Given the description of an element on the screen output the (x, y) to click on. 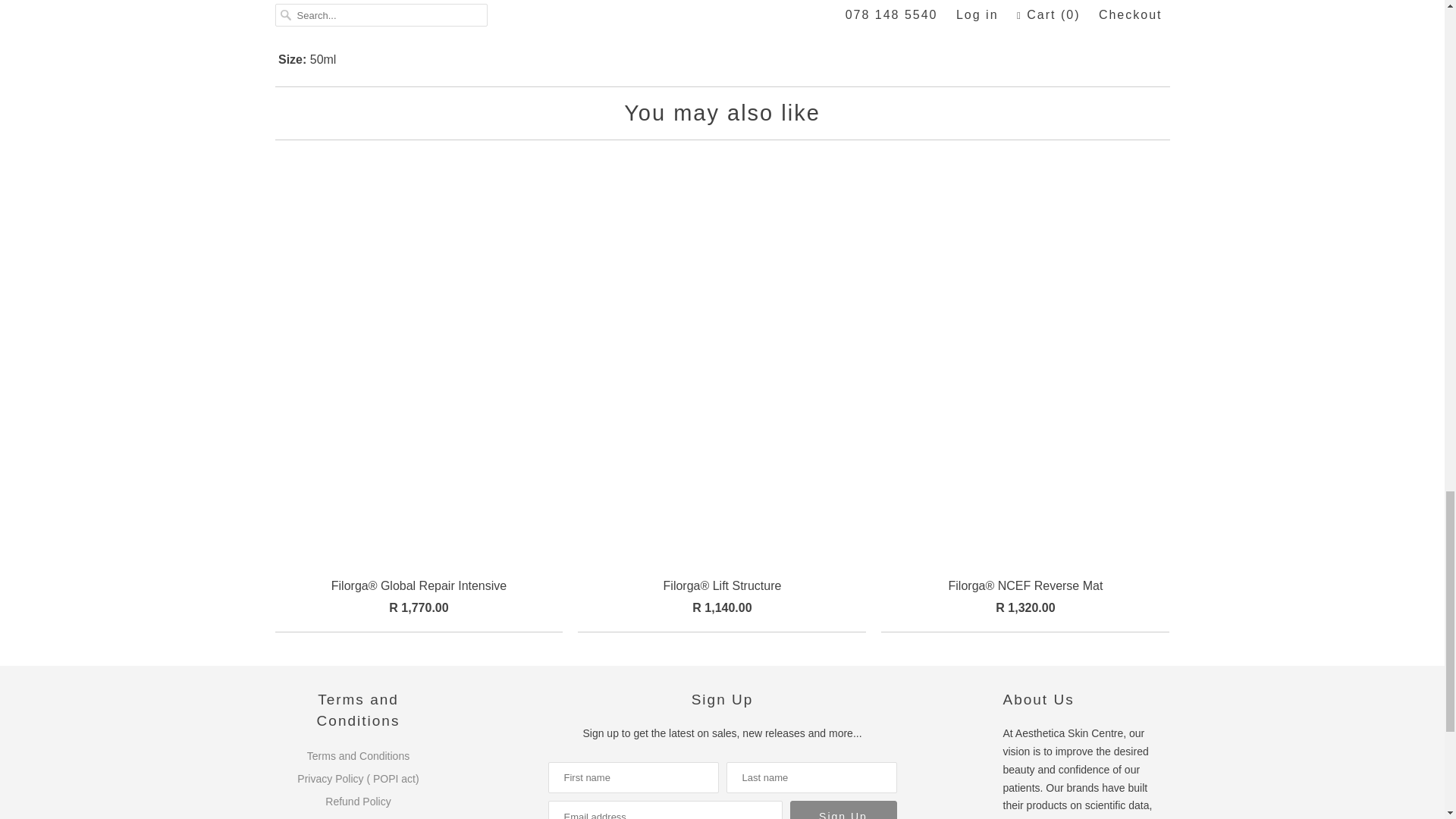
Terms and Conditions (358, 756)
Sign Up (843, 809)
Sign Up (843, 809)
Refund Policy (357, 801)
